Given the description of an element on the screen output the (x, y) to click on. 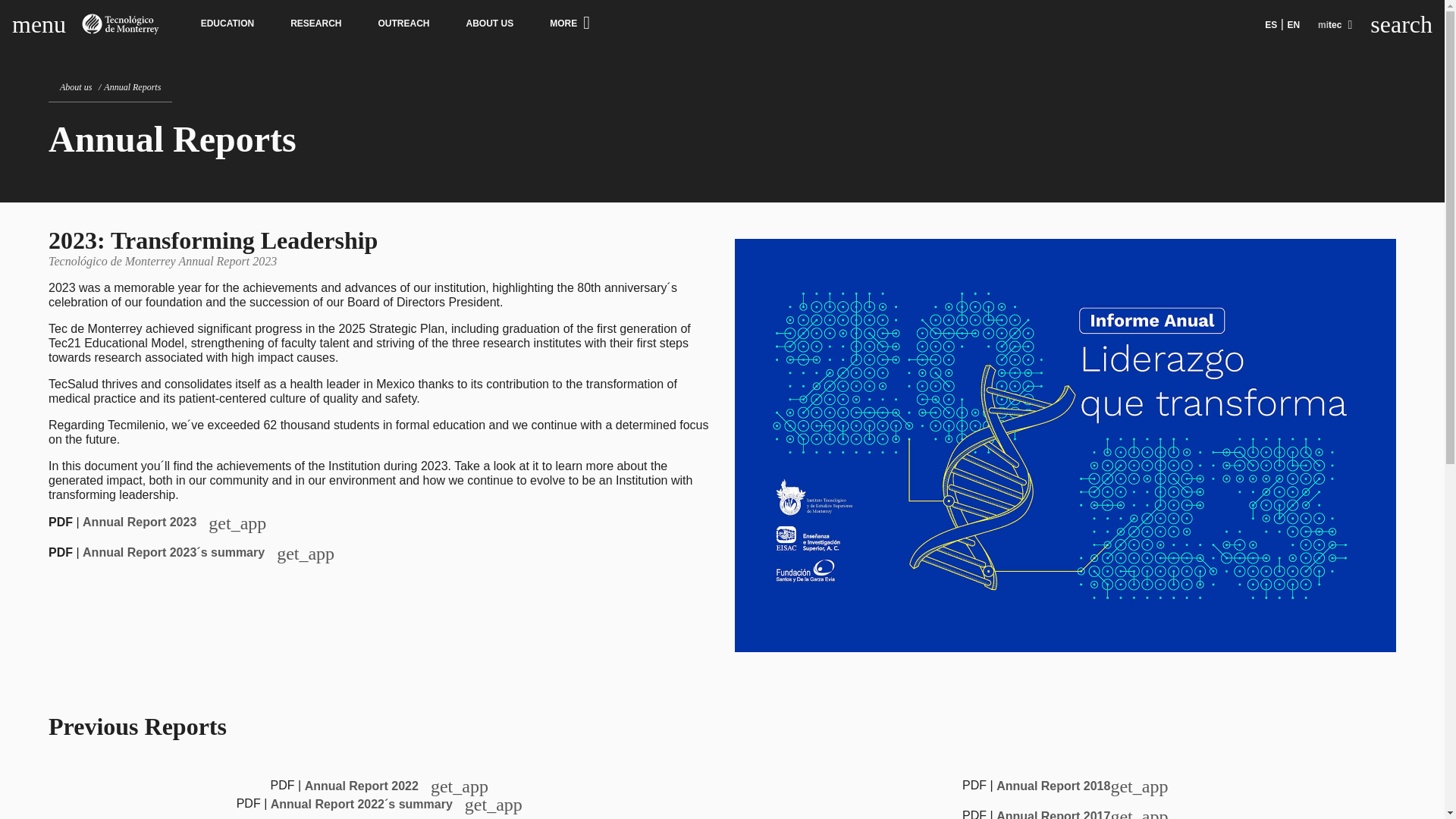
2018 Annual Report (1081, 785)
2022 Annual Report (395, 785)
Informe Anual 2023 (174, 521)
2017 Annual Report (1081, 814)
